Given the description of an element on the screen output the (x, y) to click on. 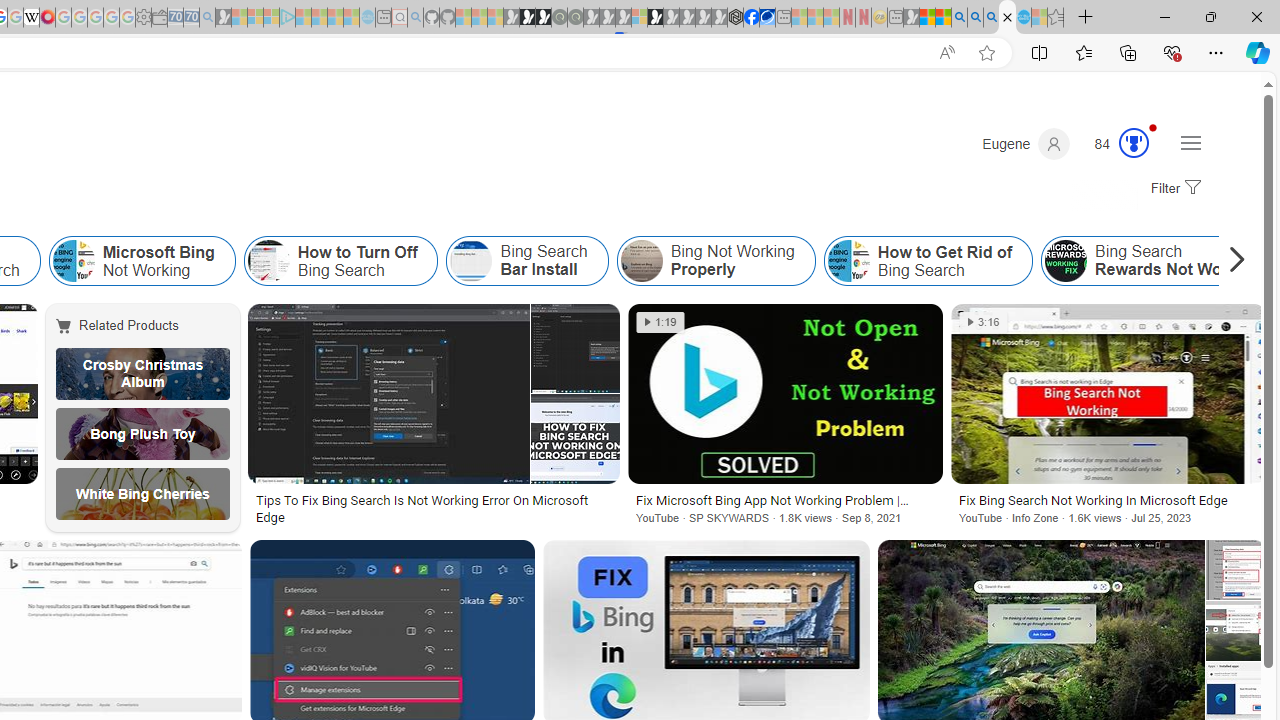
Class: item col (928, 260)
How to Turn Off Bing Search (340, 260)
Bing Search Bar Install (527, 260)
Microsoft Bing Not Working (73, 260)
How to Get Rid of Bing Search (928, 260)
Eugene (1026, 143)
AirNow.gov (767, 17)
Nordace | Facebook (751, 17)
